Given the description of an element on the screen output the (x, y) to click on. 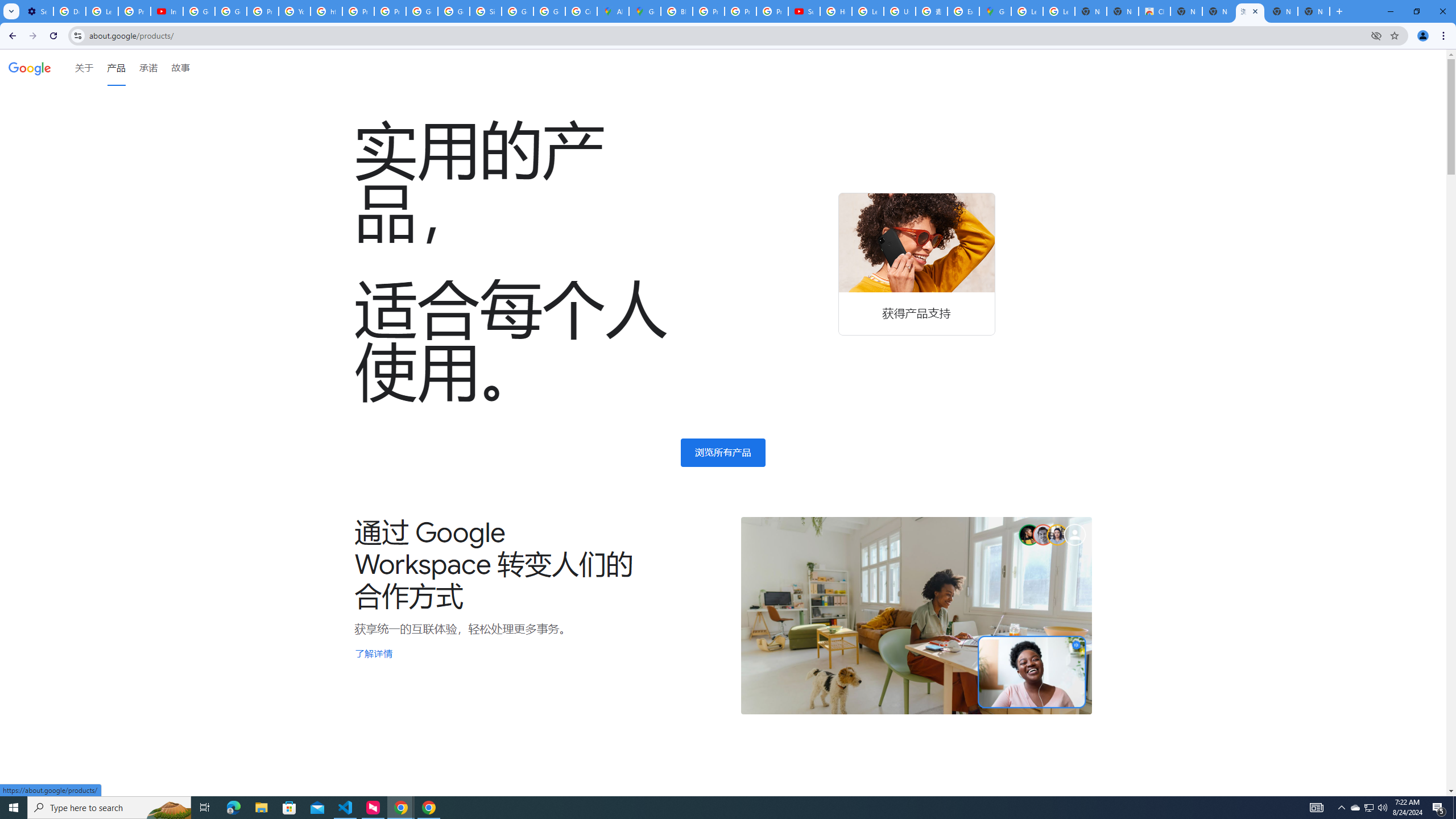
Blogger Policies and Guidelines - Transparency Center (676, 11)
Privacy Help Center - Policies Help (358, 11)
Introduction | Google Privacy Policy - YouTube (166, 11)
